Given the description of an element on the screen output the (x, y) to click on. 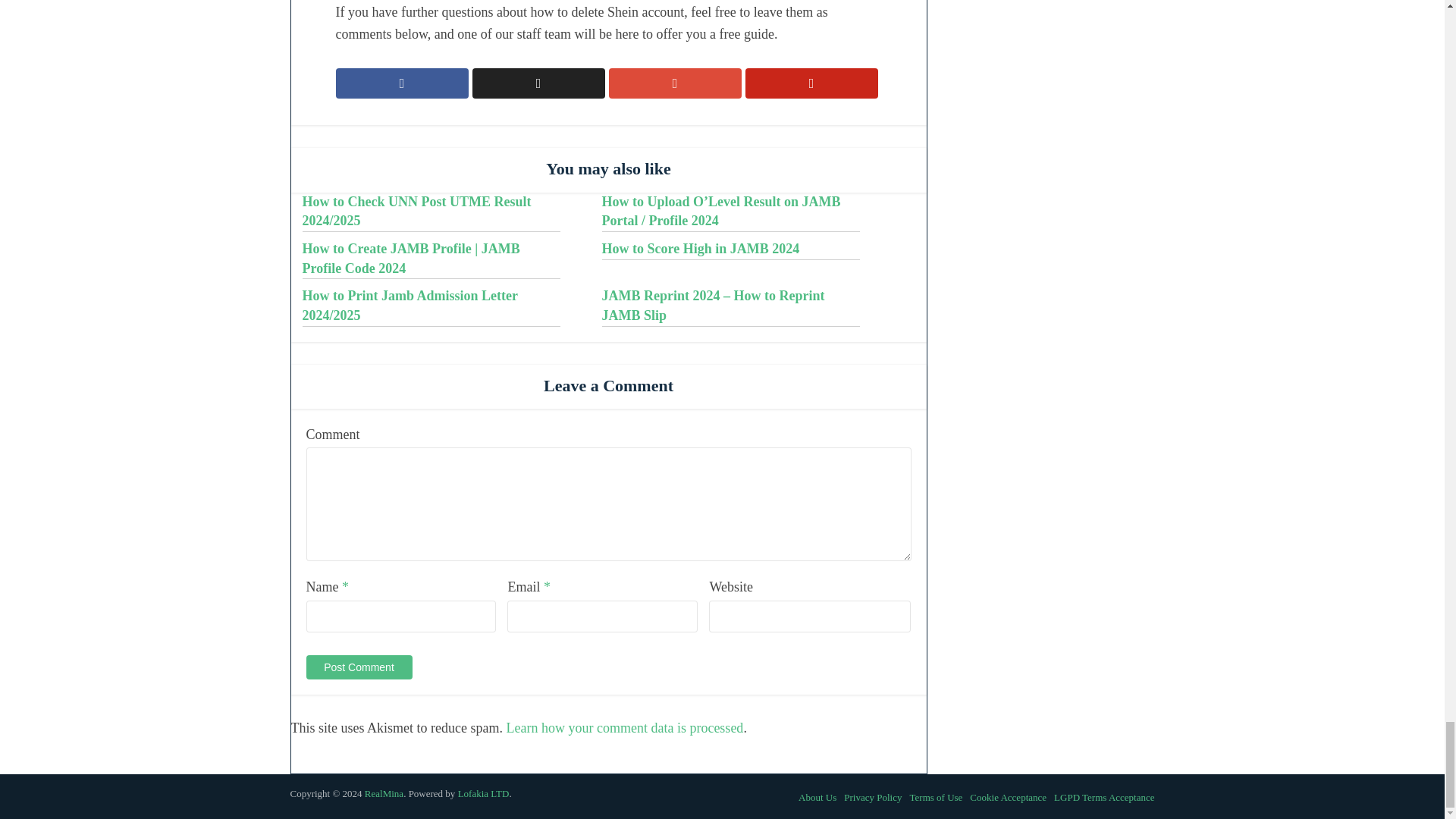
Post Comment (358, 667)
How to Score High in JAMB 2024 (700, 248)
How to Score High in JAMB 2024 (700, 248)
Post Comment (358, 667)
Learn how your comment data is processed (623, 727)
